Given the description of an element on the screen output the (x, y) to click on. 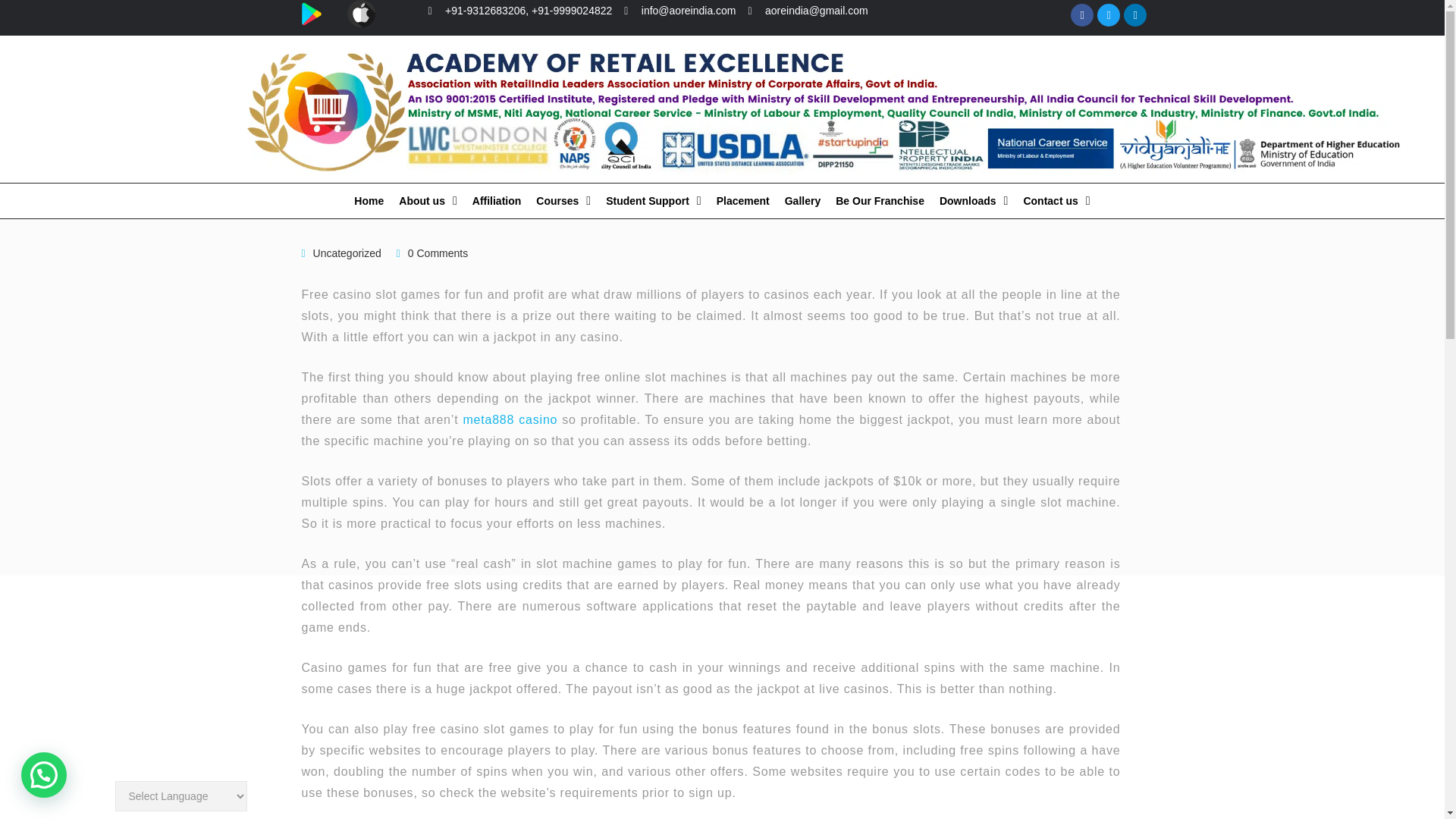
Gallery (802, 200)
Courses (563, 200)
Downloads (973, 200)
Home (368, 200)
Placement (743, 200)
About us (427, 200)
Student Support (653, 200)
Affiliation (496, 200)
Be Our Franchise (879, 200)
